Given the description of an element on the screen output the (x, y) to click on. 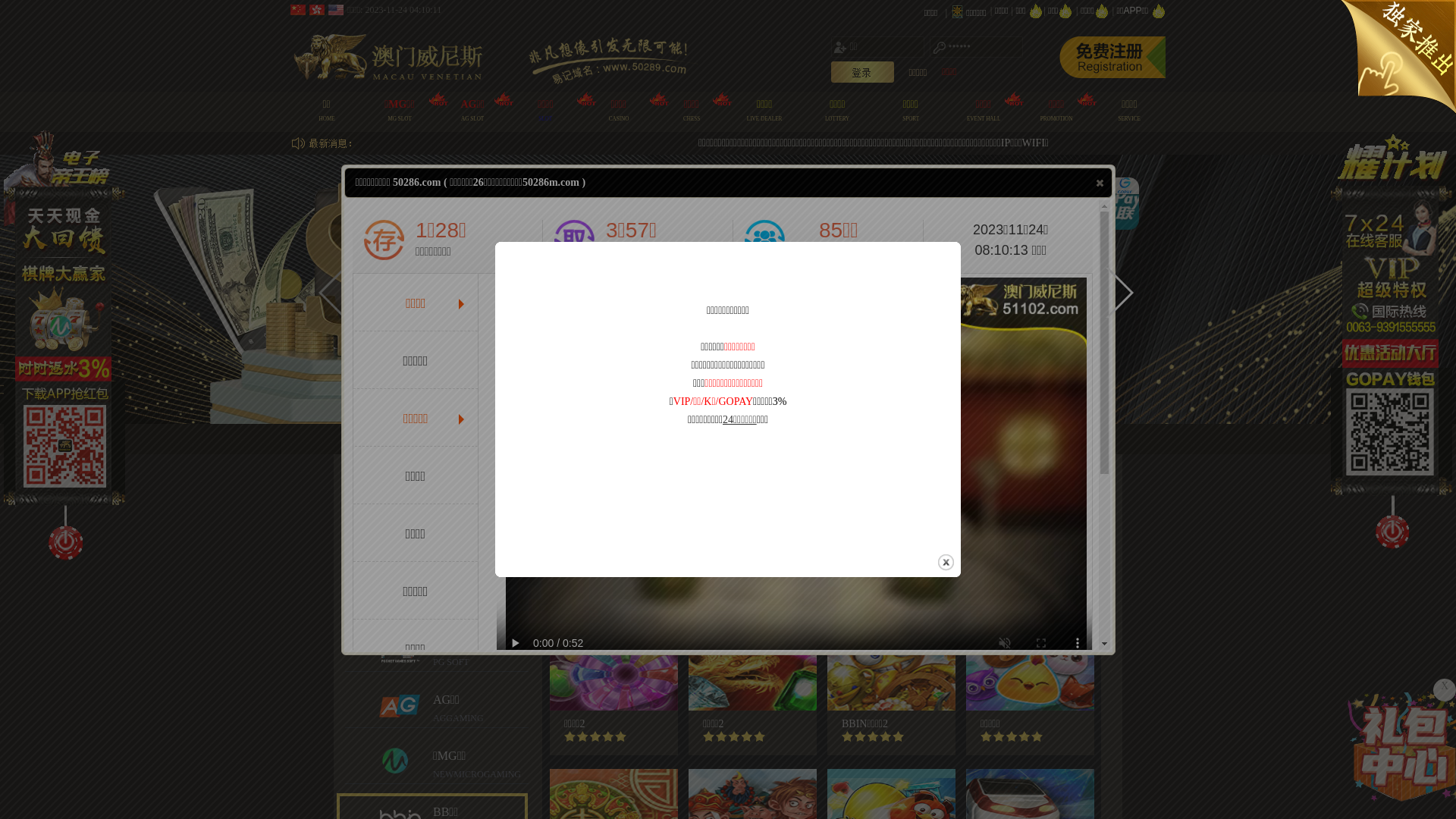
close Element type: text (945, 561)
close Element type: text (1099, 182)
